Given the description of an element on the screen output the (x, y) to click on. 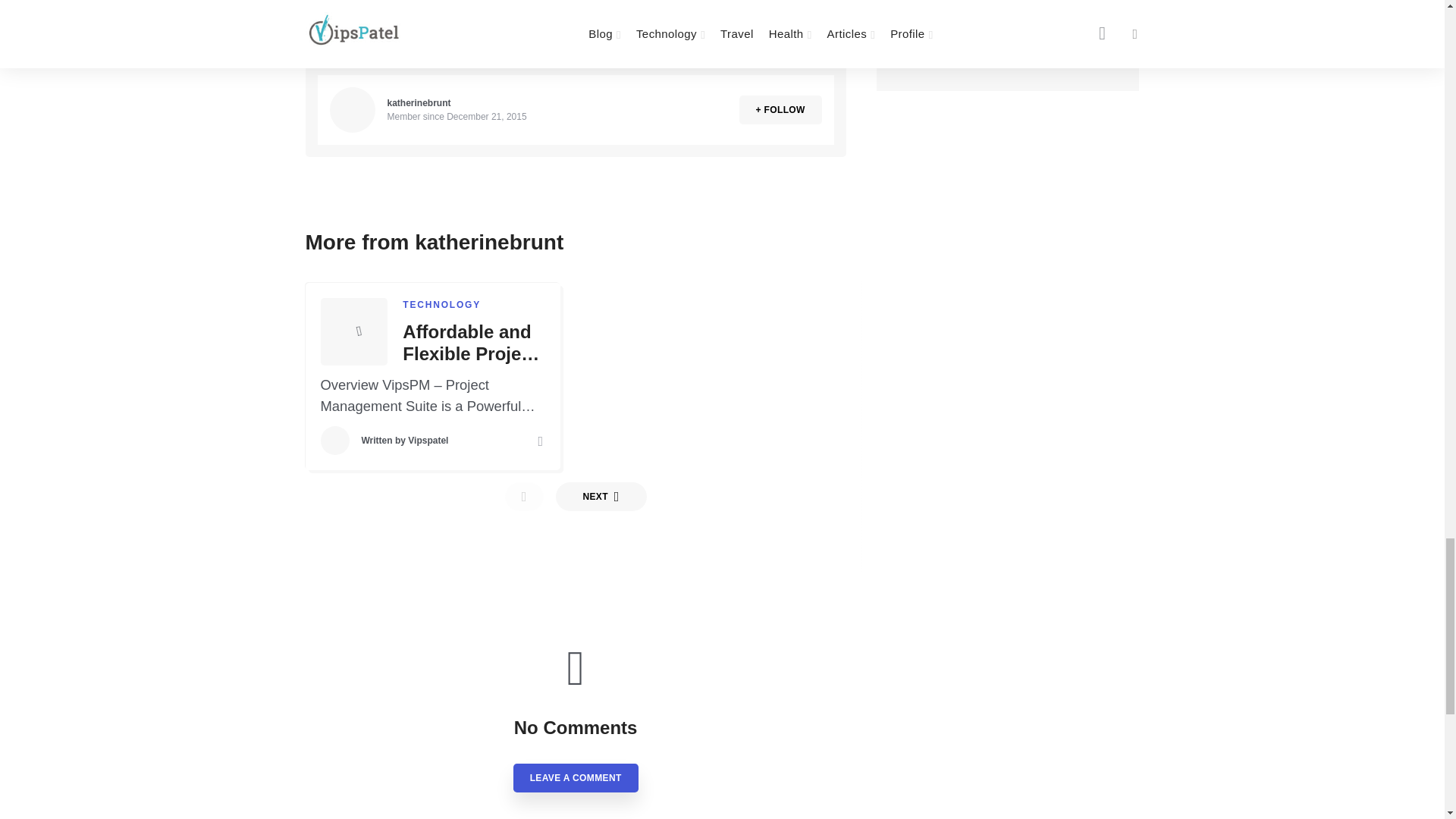
katherinebrunt (418, 102)
